Given the description of an element on the screen output the (x, y) to click on. 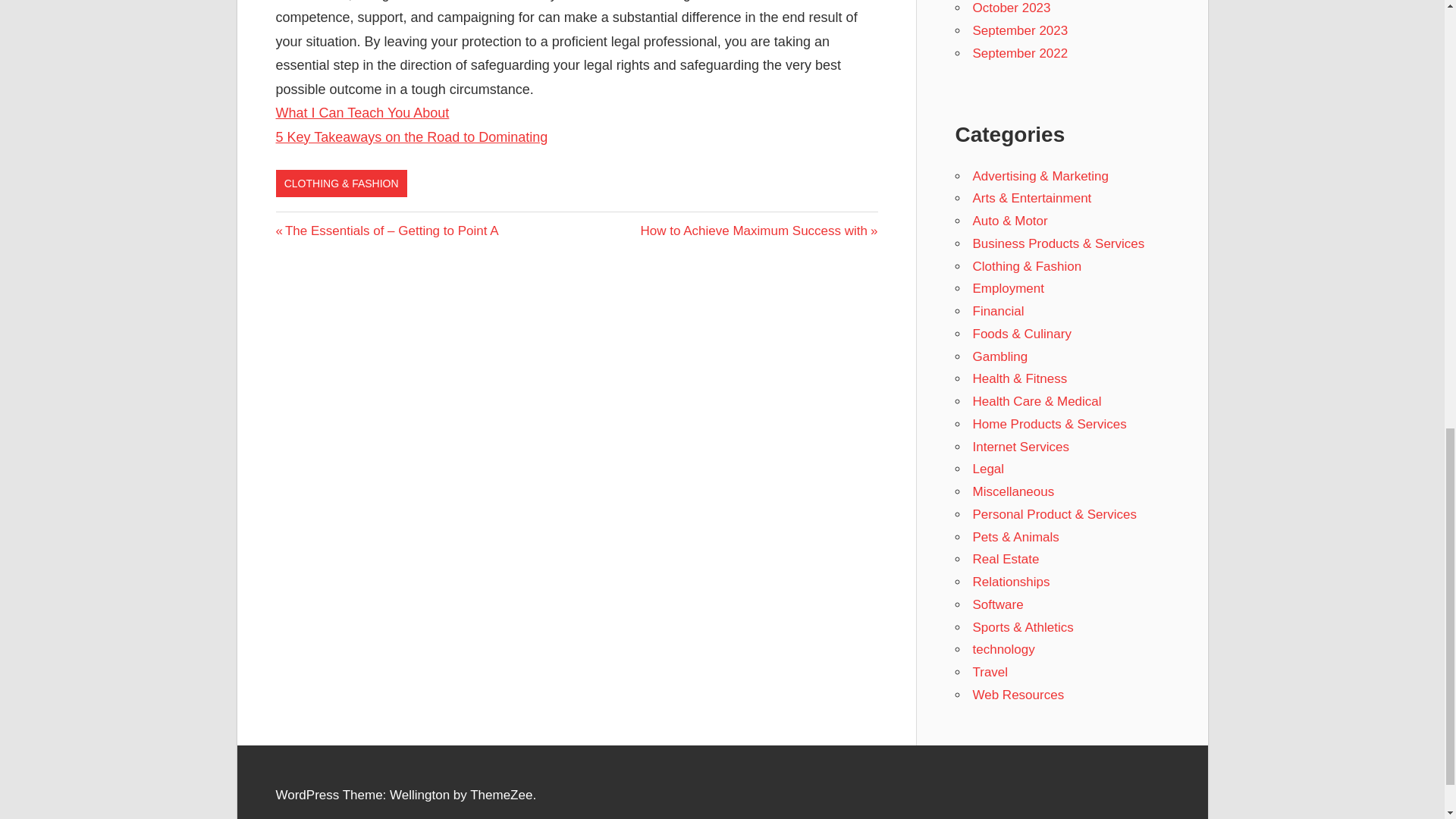
October 2023 (1010, 7)
Employment (1007, 288)
September 2022 (758, 230)
Financial (1019, 52)
September 2023 (997, 310)
Gambling (1019, 30)
Internet Services (999, 356)
What I Can Teach You About (1020, 446)
5 Key Takeaways on the Road to Dominating (362, 112)
